Given the description of an element on the screen output the (x, y) to click on. 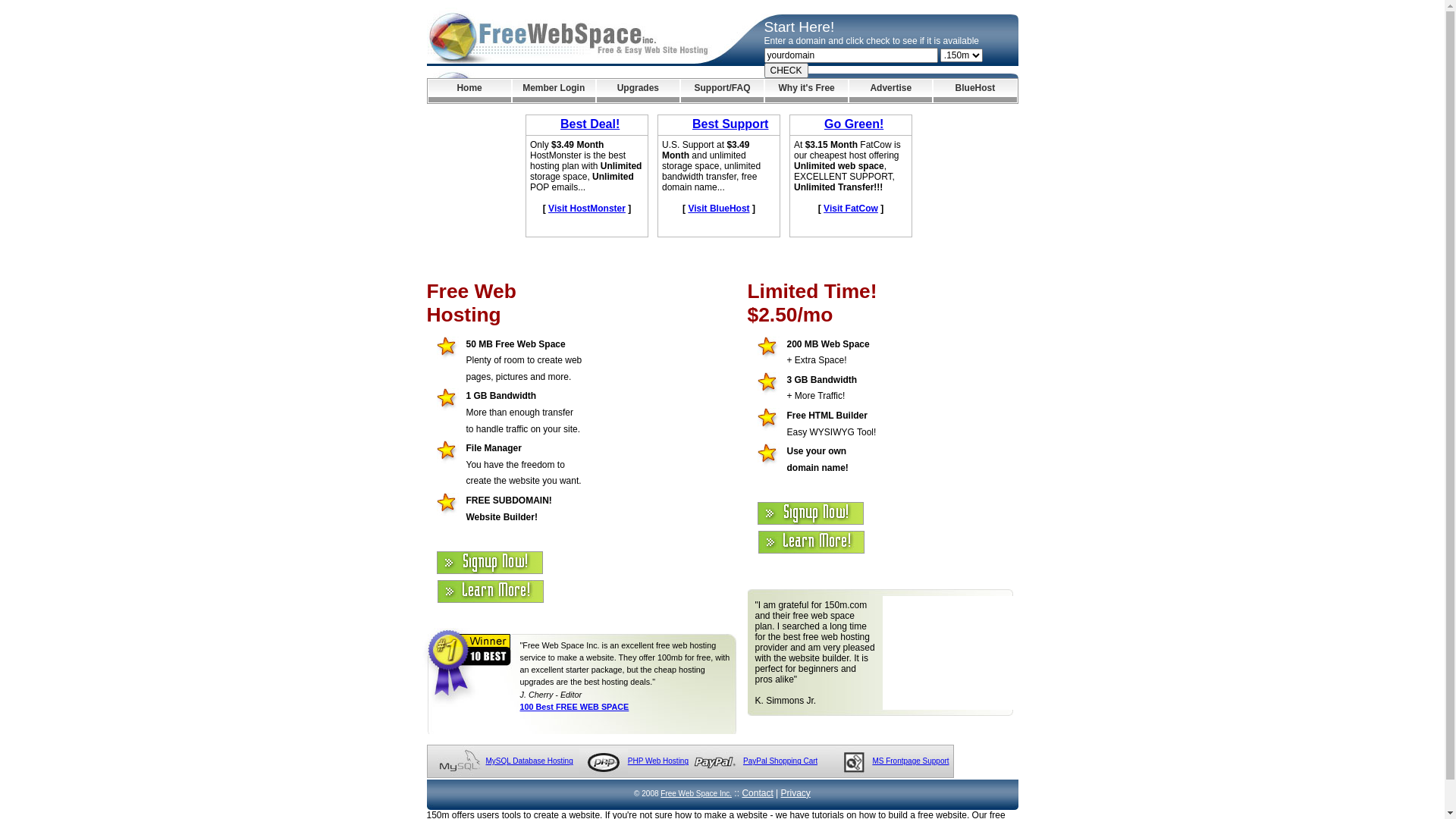
Why it's Free Element type: text (806, 90)
BlueHost Element type: text (974, 90)
Member Login Element type: text (553, 90)
PHP Web Hosting Element type: text (657, 760)
Privacy Element type: text (795, 792)
Support/FAQ Element type: text (721, 90)
Free Web Space Inc. Element type: text (695, 793)
Home Element type: text (468, 90)
PayPal Shopping Cart Element type: text (780, 760)
100 Best FREE WEB SPACE Element type: text (574, 706)
MS Frontpage Support Element type: text (910, 760)
Upgrades Element type: text (637, 90)
Advertise Element type: text (890, 90)
CHECK Element type: text (786, 70)
MySQL Database Hosting Element type: text (528, 760)
Contact Element type: text (756, 792)
